Given the description of an element on the screen output the (x, y) to click on. 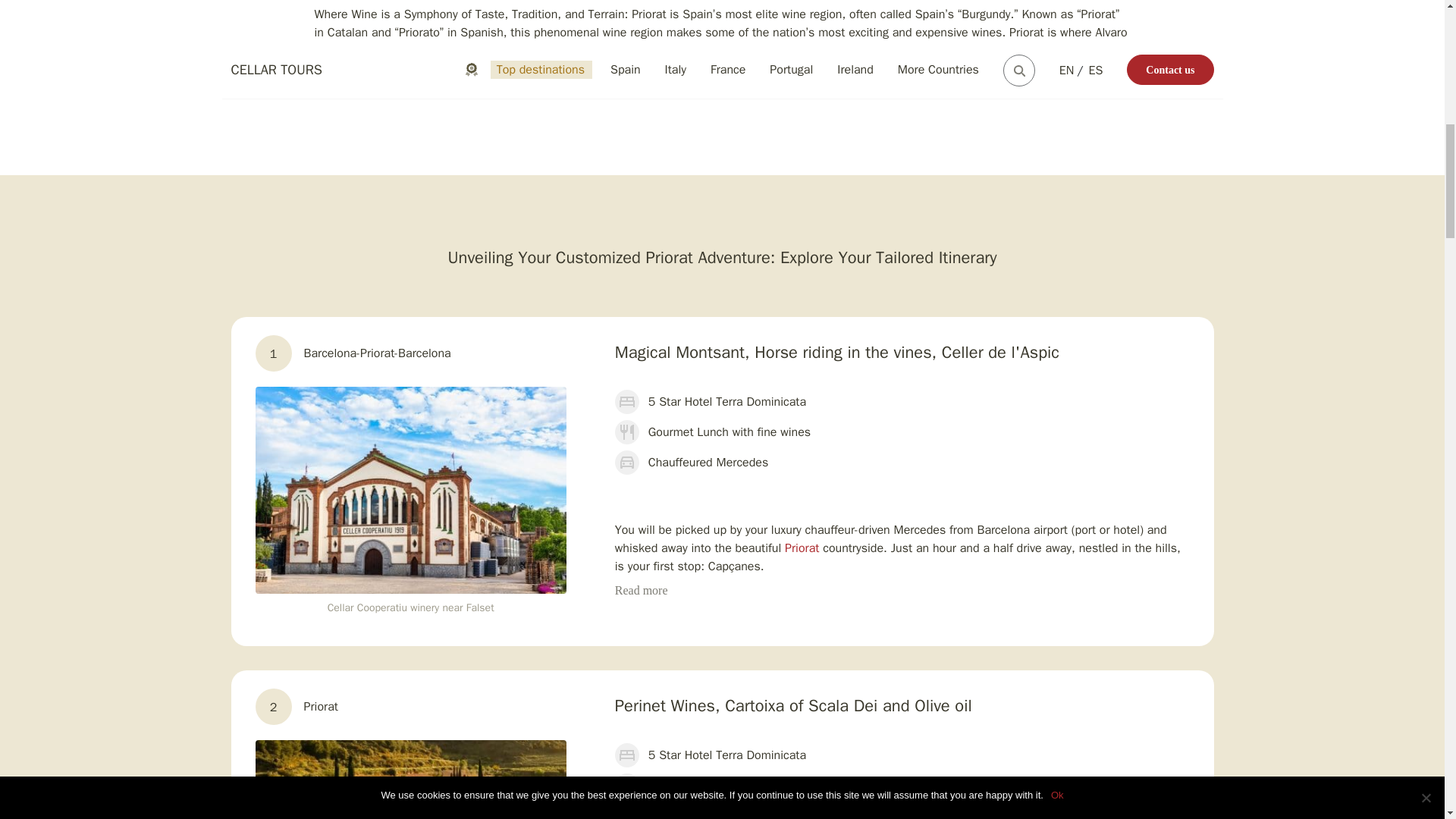
5-star Hotel Terra Dominicata (410, 779)
Cellar Cooperatiu winery near Falset (410, 490)
